Given the description of an element on the screen output the (x, y) to click on. 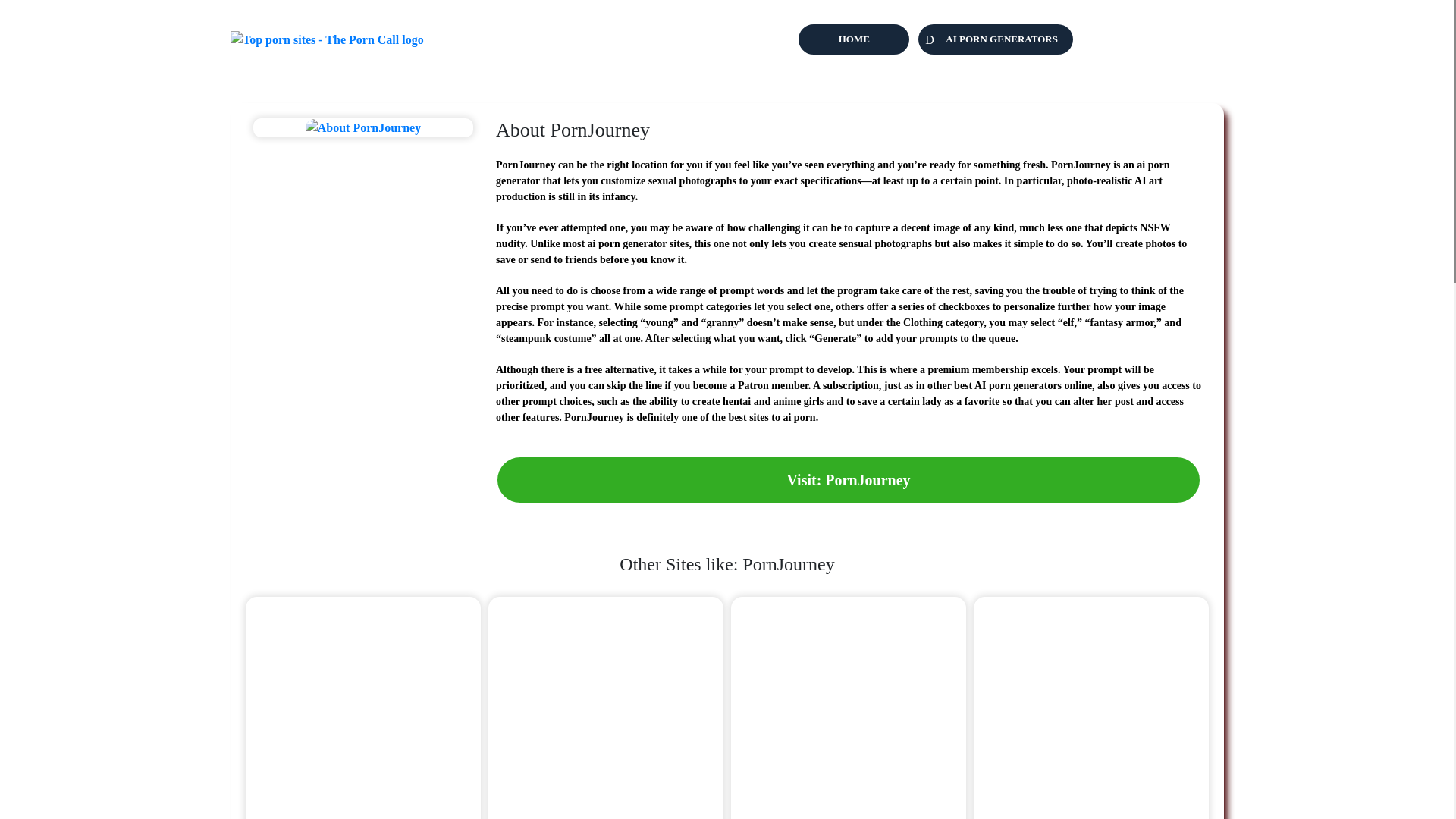
HOME (853, 39)
AI PORN GENERATORS (995, 39)
